Given the description of an element on the screen output the (x, y) to click on. 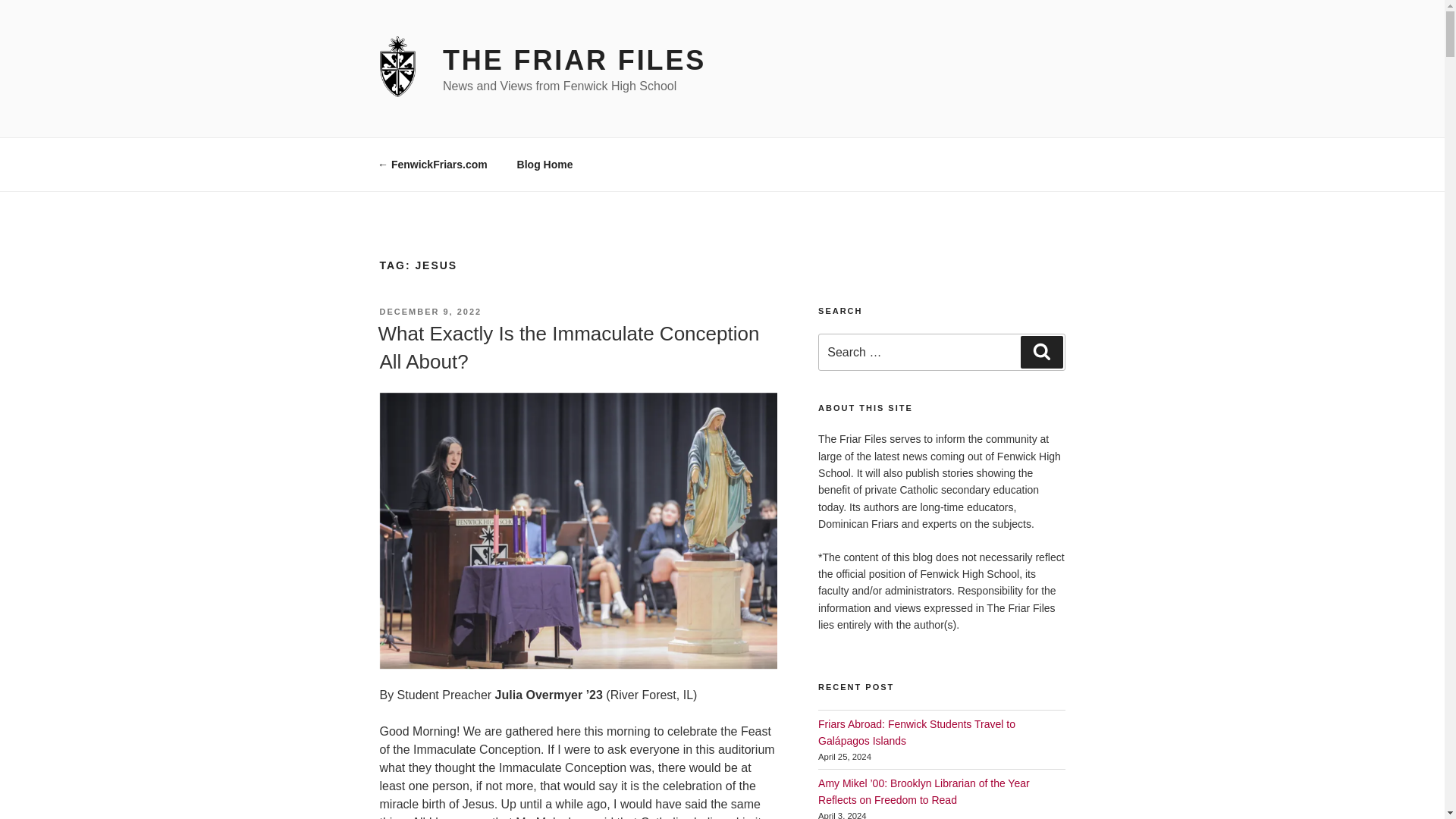
THE FRIAR FILES (574, 60)
Search (1041, 351)
Blog Home (544, 163)
DECEMBER 9, 2022 (429, 311)
What Exactly Is the Immaculate Conception All About? (567, 347)
